Given the description of an element on the screen output the (x, y) to click on. 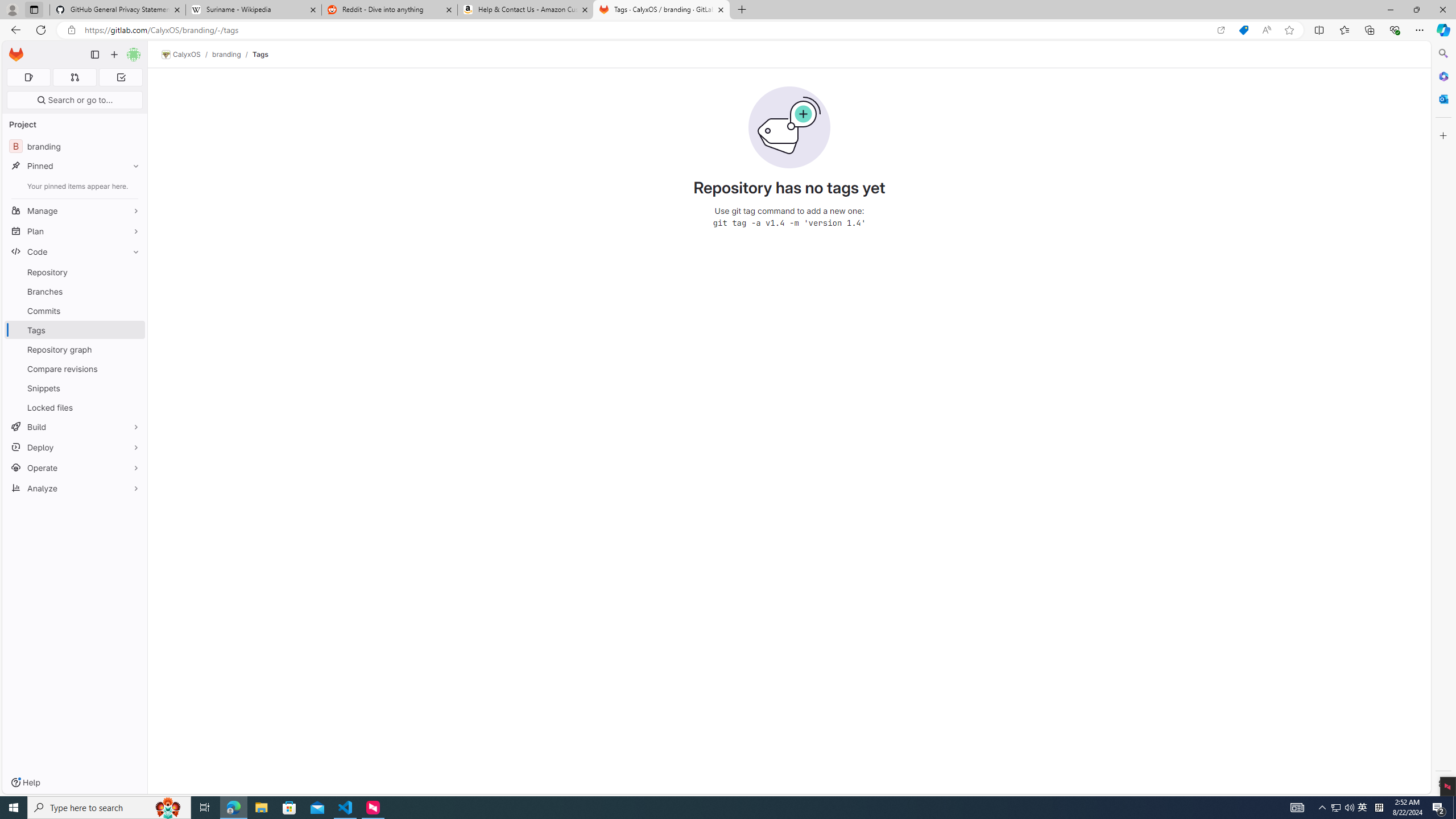
Help (25, 782)
Repository graph (74, 348)
Merge requests 0 (74, 76)
Code (74, 251)
Operate (74, 467)
GitHub General Privacy Statement - GitHub Docs (117, 9)
